Given the description of an element on the screen output the (x, y) to click on. 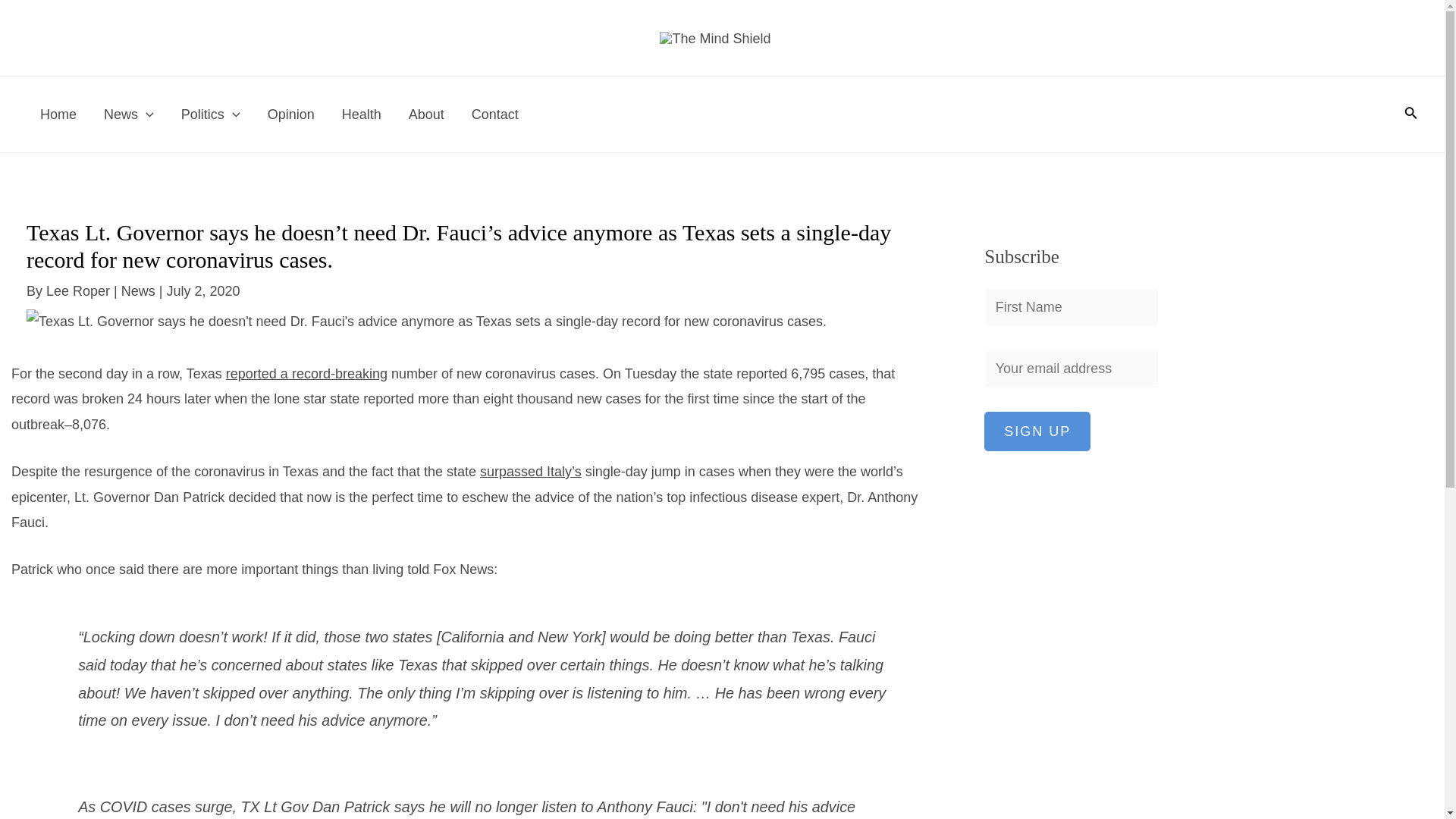
Politics (210, 114)
reported a record-breaking (306, 373)
Sign up (1037, 431)
View all posts by Lee Roper (79, 290)
Opinion (291, 114)
Lee Roper (79, 290)
News (128, 114)
News (137, 290)
Contact (495, 114)
Sign up (1037, 431)
